Given the description of an element on the screen output the (x, y) to click on. 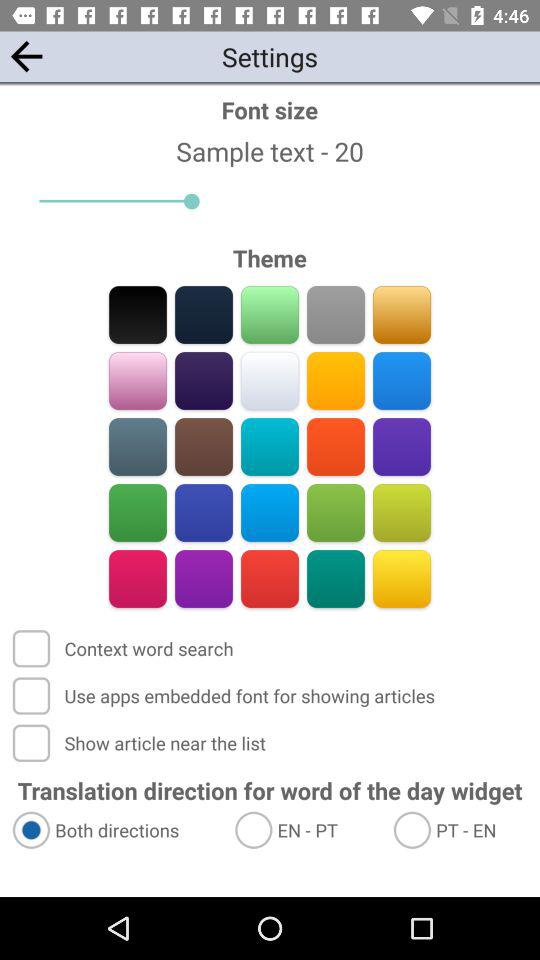
select color (335, 512)
